Given the description of an element on the screen output the (x, y) to click on. 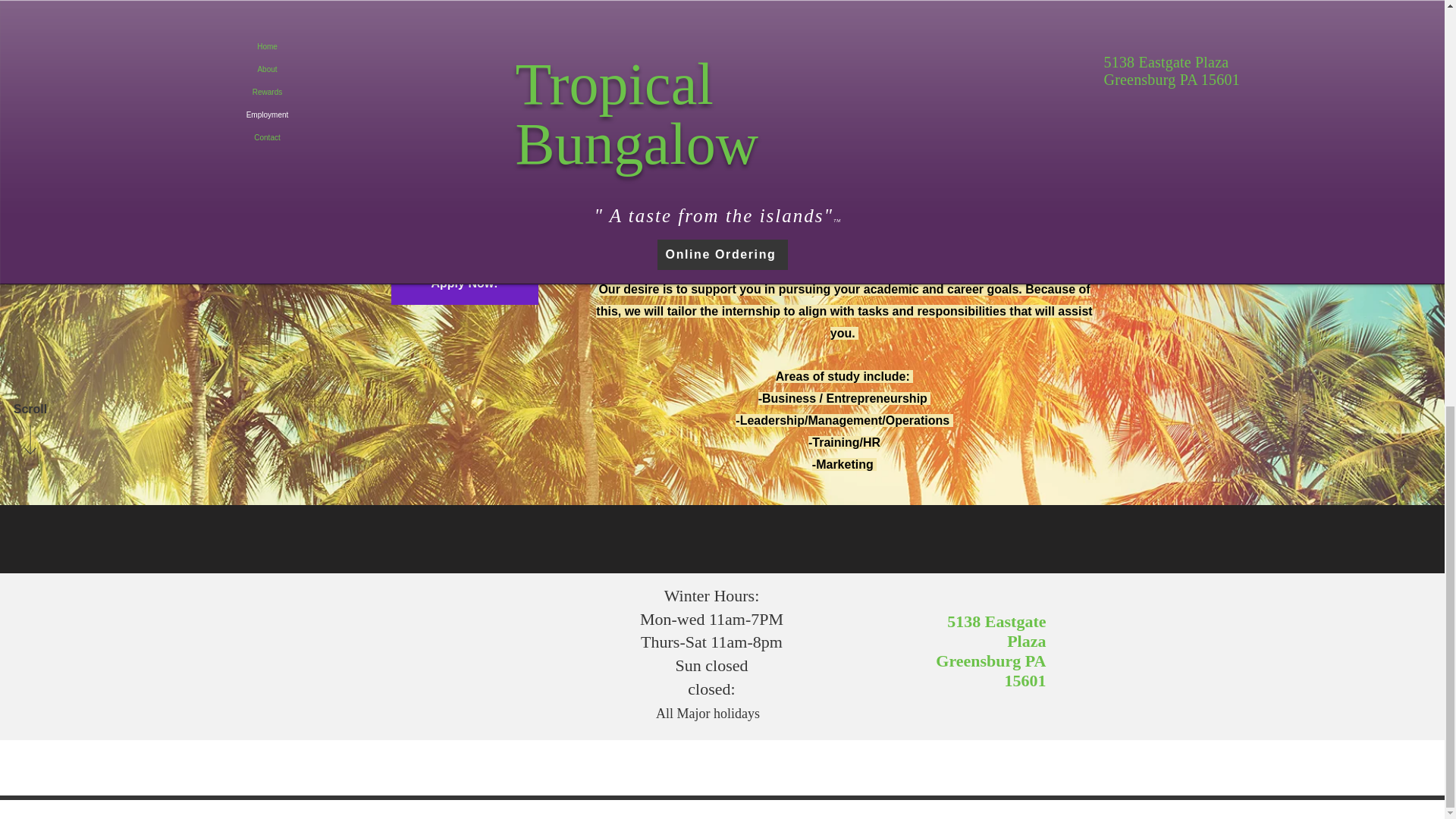
Wix.com (859, 811)
Apply Now! (464, 283)
